Given the description of an element on the screen output the (x, y) to click on. 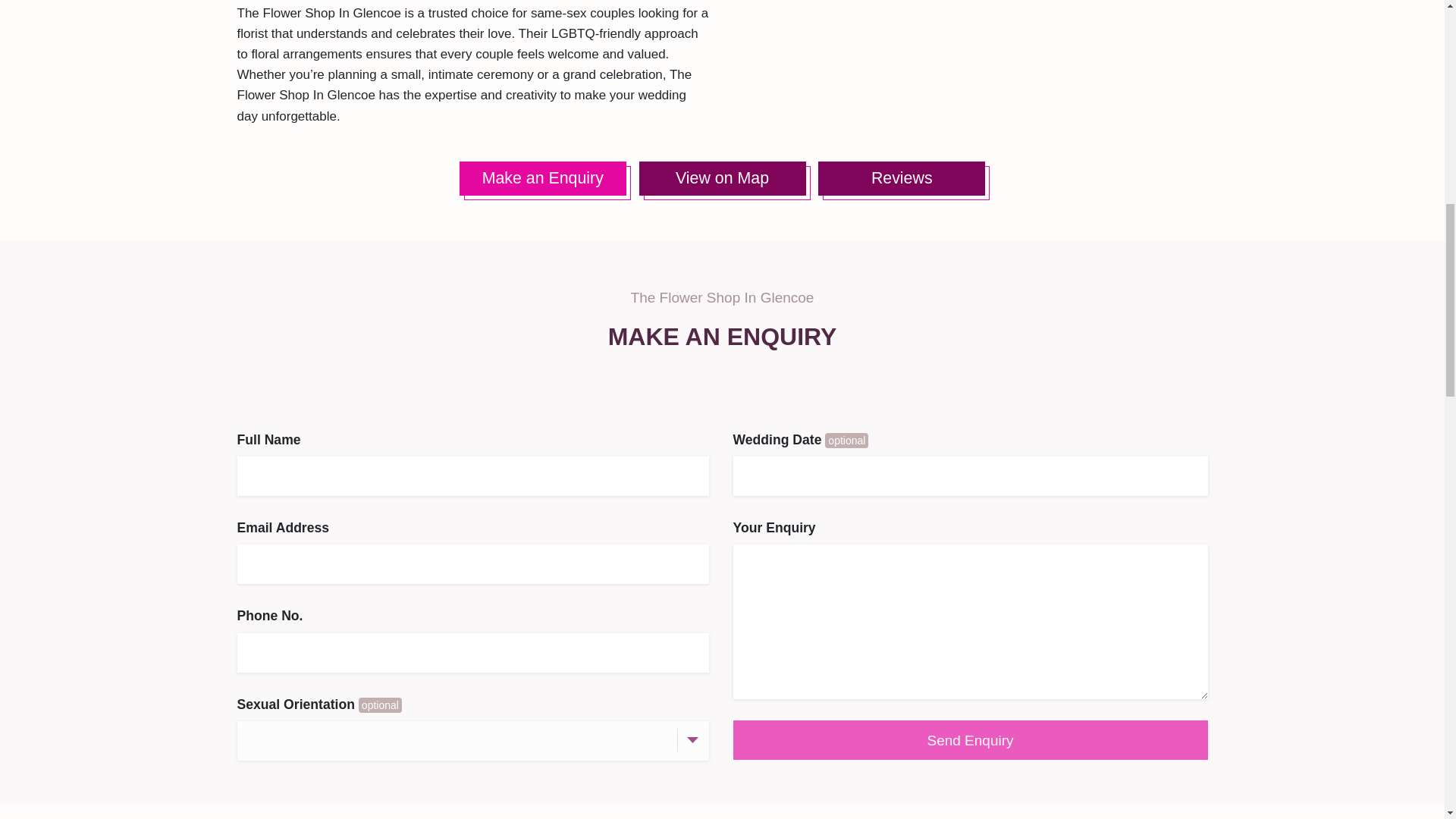
Send Enquiry (969, 740)
